Given the description of an element on the screen output the (x, y) to click on. 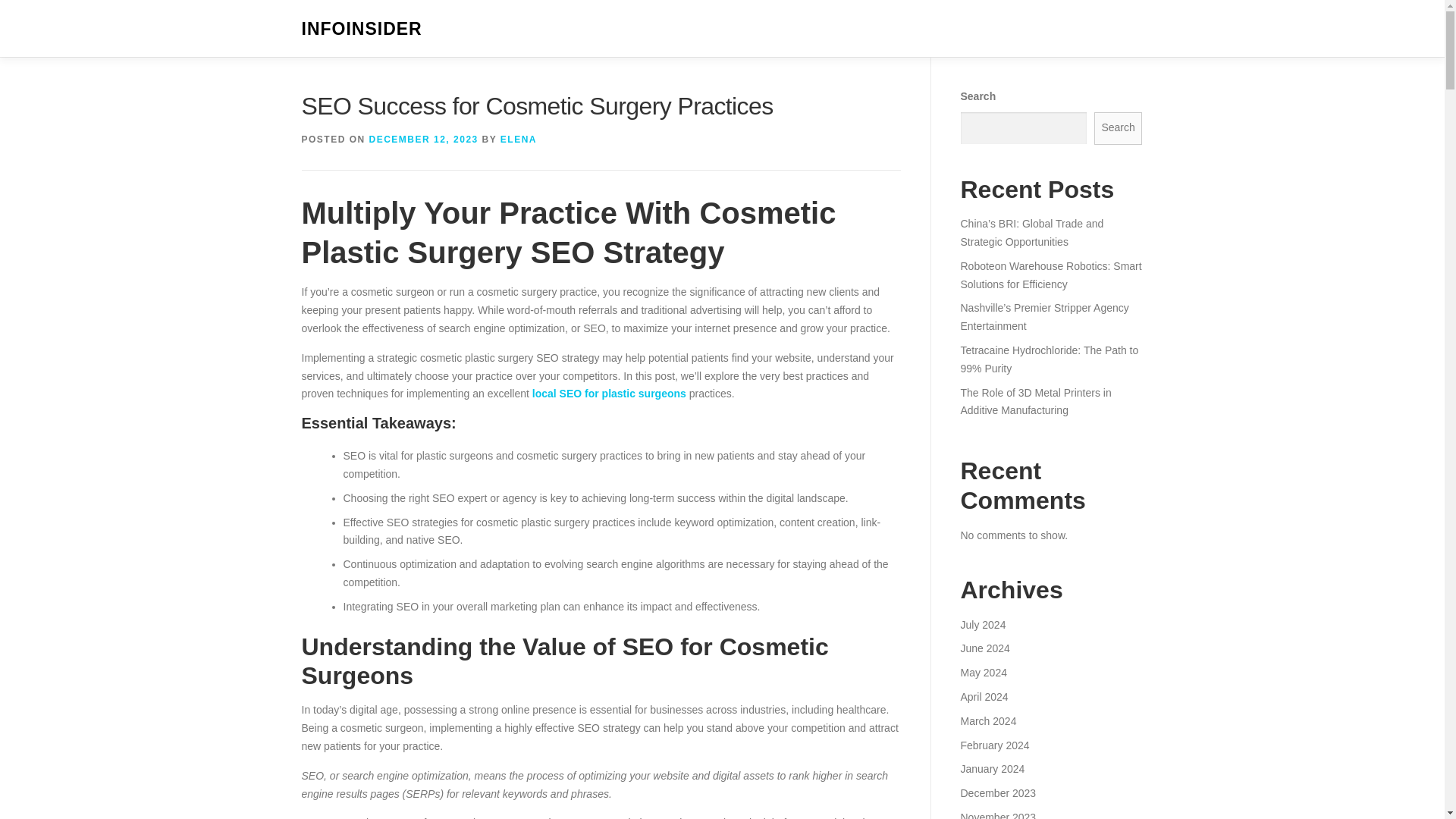
June 2024 (984, 648)
local SEO for plastic surgeons (608, 393)
December 2023 (997, 793)
Search (1118, 128)
INFOINSIDER (361, 29)
January 2024 (992, 768)
February 2024 (994, 744)
DECEMBER 12, 2023 (424, 139)
March 2024 (987, 720)
July 2024 (982, 624)
The Role of 3D Metal Printers in Additive Manufacturing (1034, 401)
Roboteon Warehouse Robotics: Smart Solutions for Efficiency (1050, 275)
ELENA (518, 139)
April 2024 (983, 696)
November 2023 (997, 815)
